Given the description of an element on the screen output the (x, y) to click on. 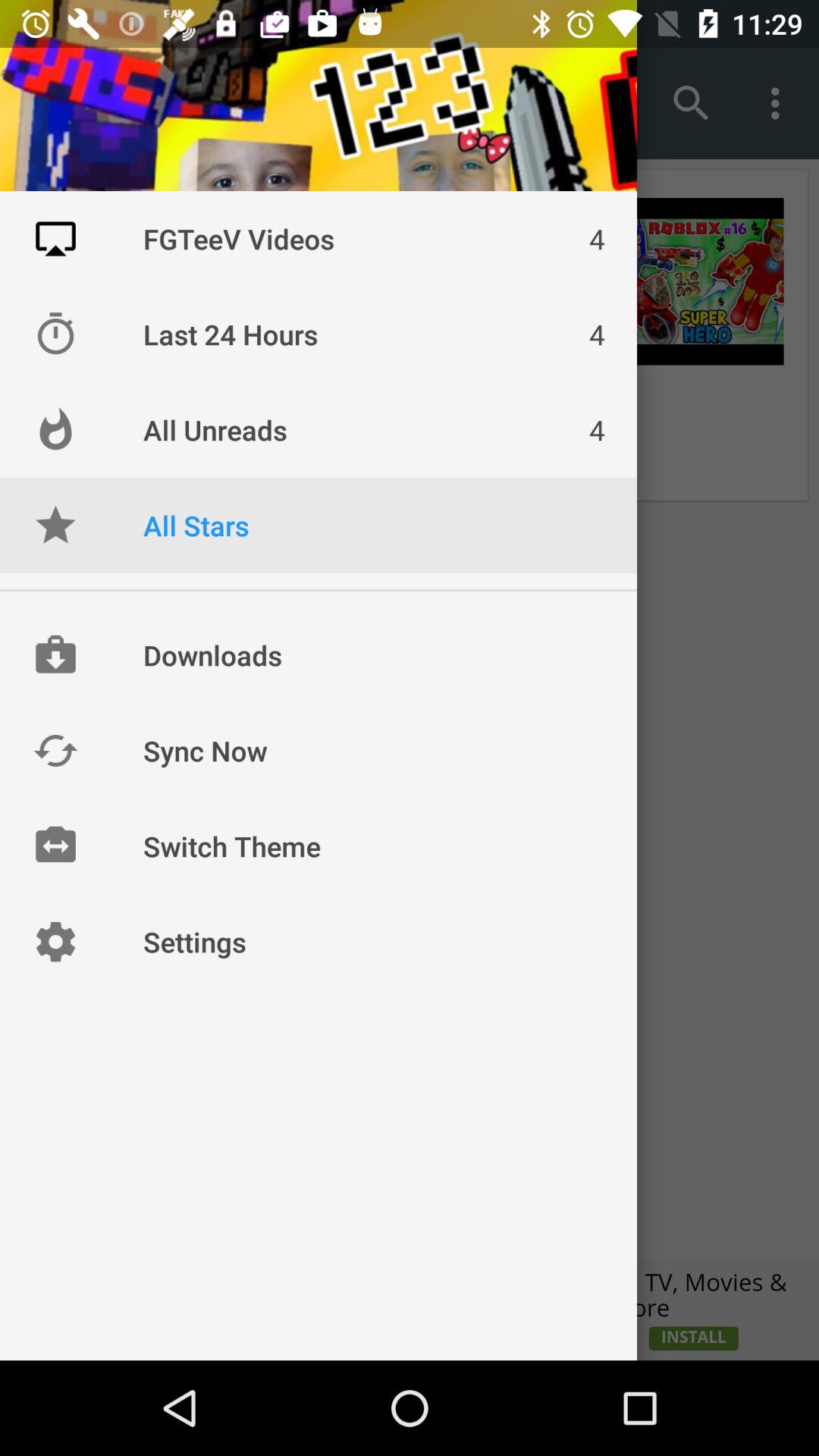
click on the all stars icon (55, 525)
select the settings icon (55, 941)
click on the downloads icon (55, 655)
click the second the icon in the page (55, 333)
click on the 1st icon present above the timer icon (55, 238)
